Given the description of an element on the screen output the (x, y) to click on. 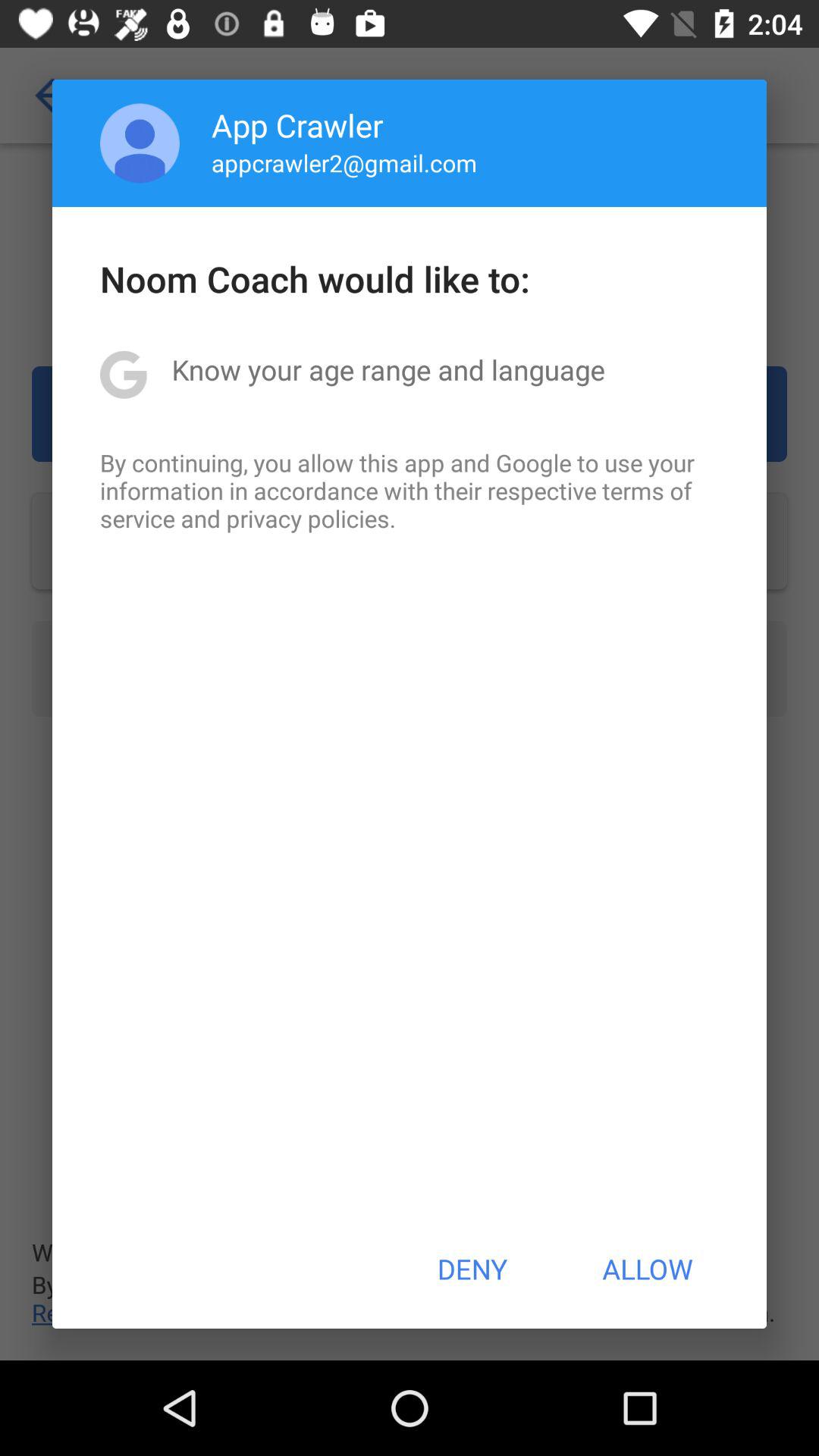
turn off the icon above appcrawler2@gmail.com app (297, 124)
